Given the description of an element on the screen output the (x, y) to click on. 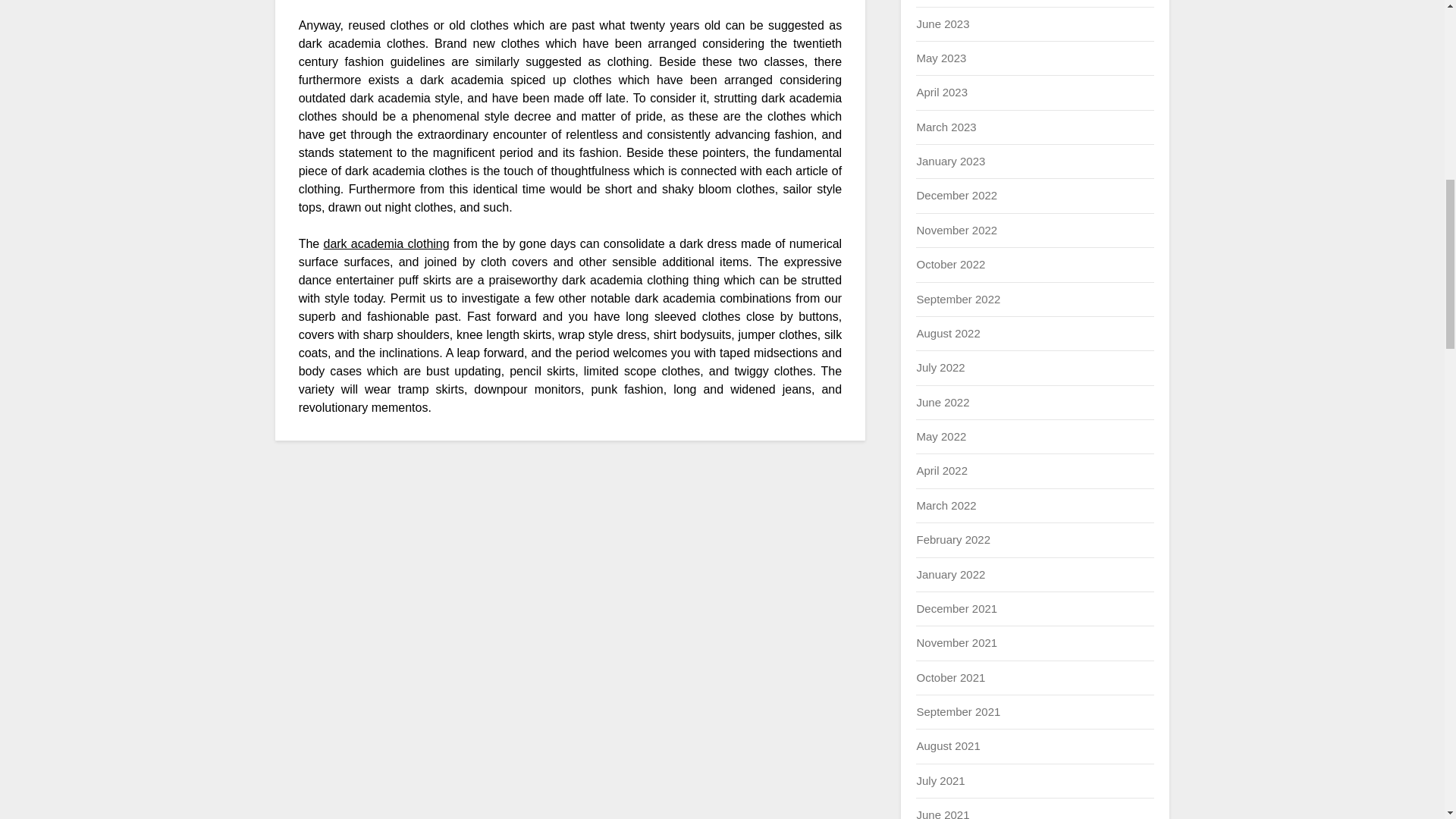
April 2023 (941, 91)
June 2023 (942, 22)
January 2023 (950, 160)
March 2023 (945, 126)
July 2022 (939, 367)
June 2022 (942, 401)
April 2022 (941, 470)
dark academia clothing (385, 243)
May 2022 (940, 436)
November 2022 (956, 229)
